Given the description of an element on the screen output the (x, y) to click on. 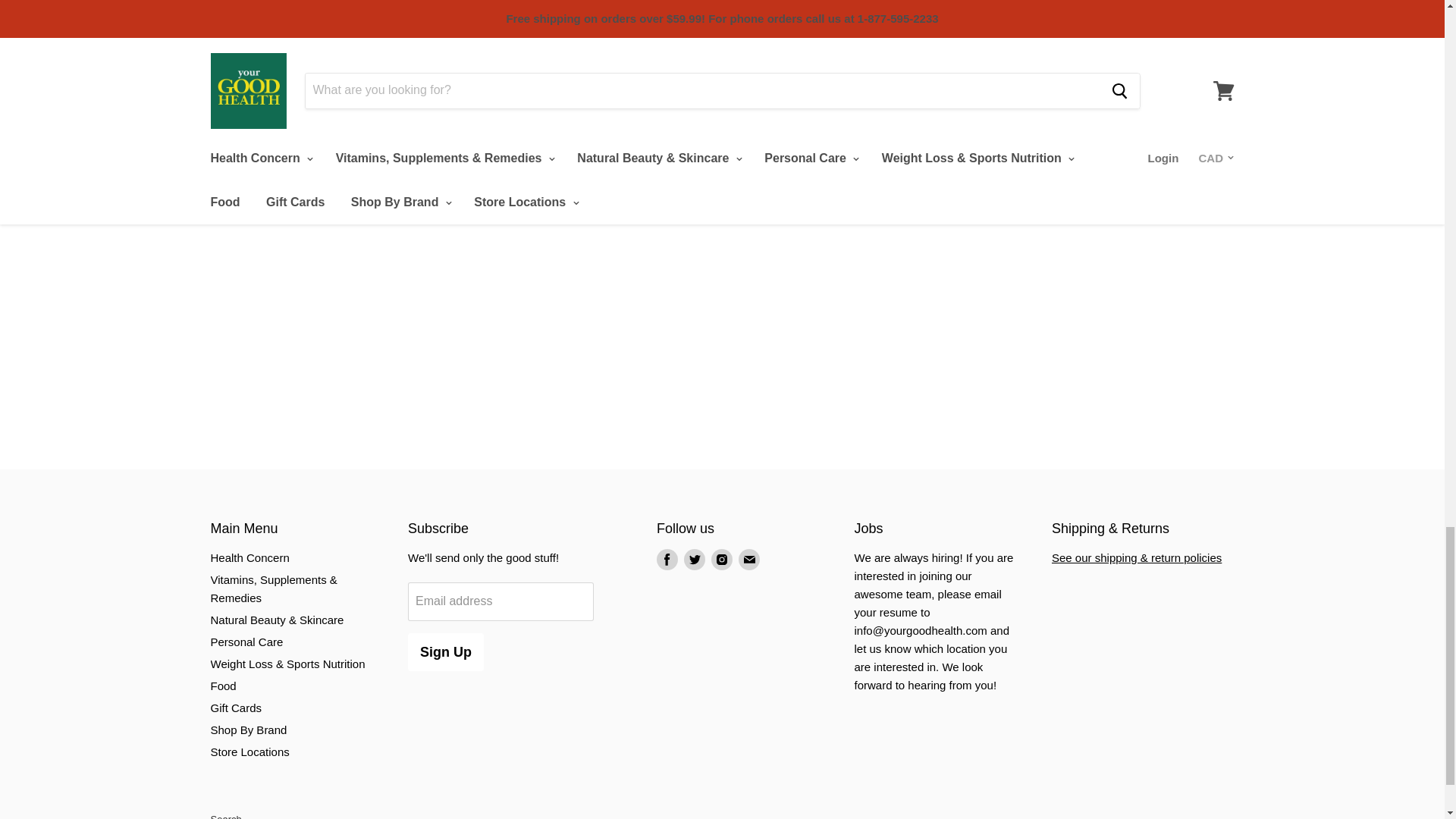
Facebook (667, 559)
Instagram (721, 559)
Twitter (694, 559)
E-mail (748, 559)
